Given the description of an element on the screen output the (x, y) to click on. 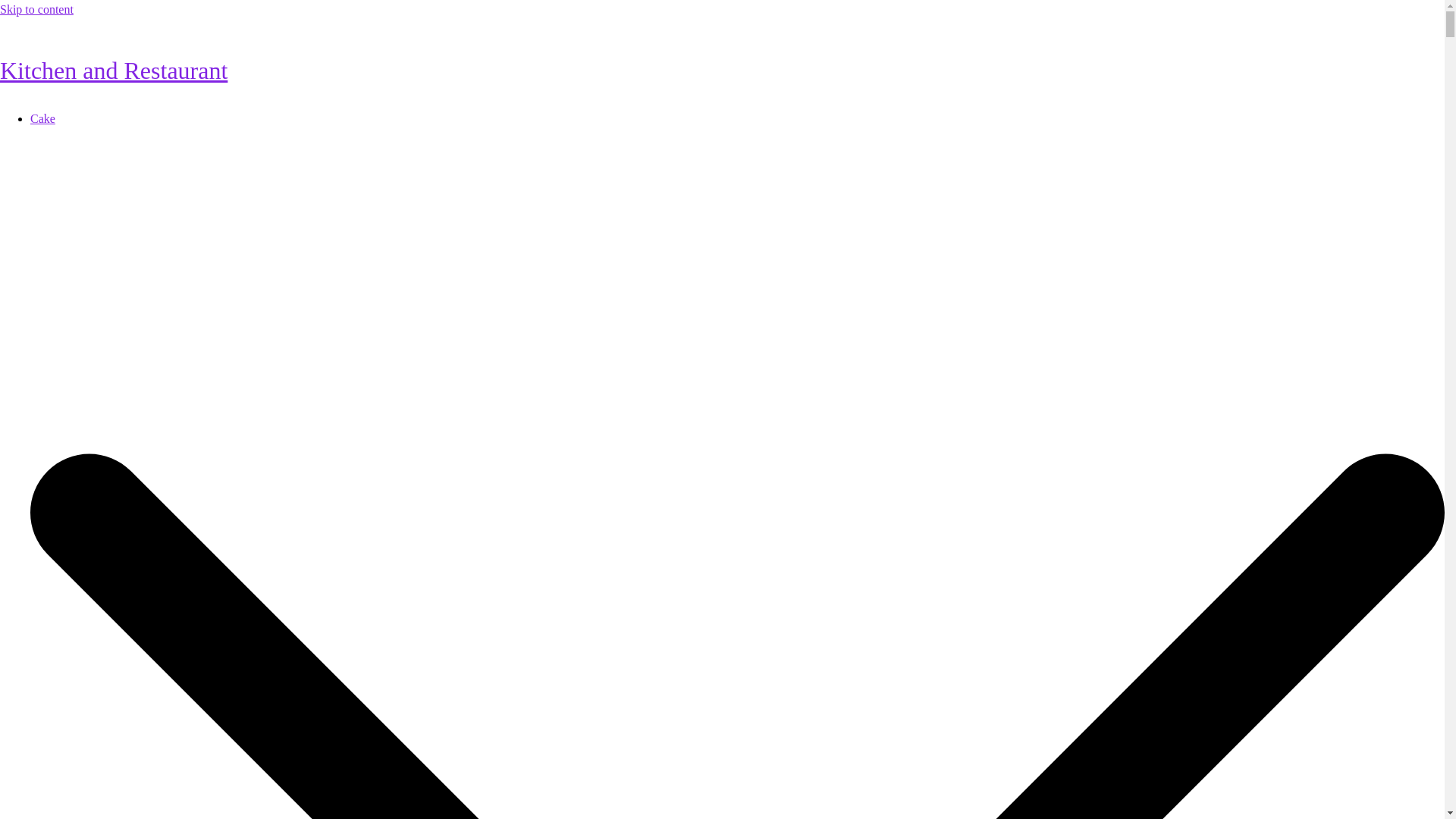
Skip to content (37, 9)
Kitchen and Restaurant (113, 70)
Cake (42, 118)
